Given the description of an element on the screen output the (x, y) to click on. 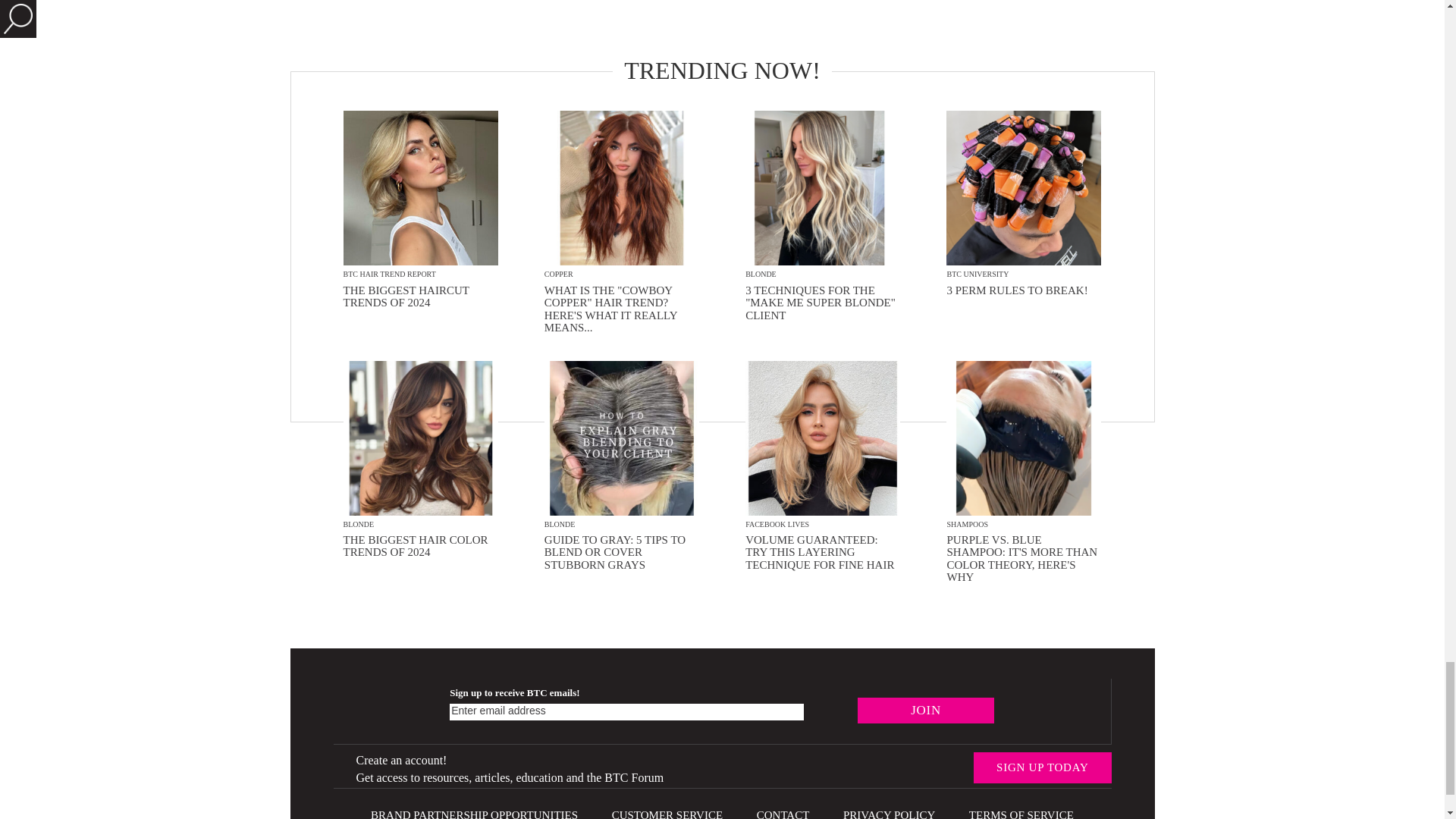
Join (924, 710)
